Given the description of an element on the screen output the (x, y) to click on. 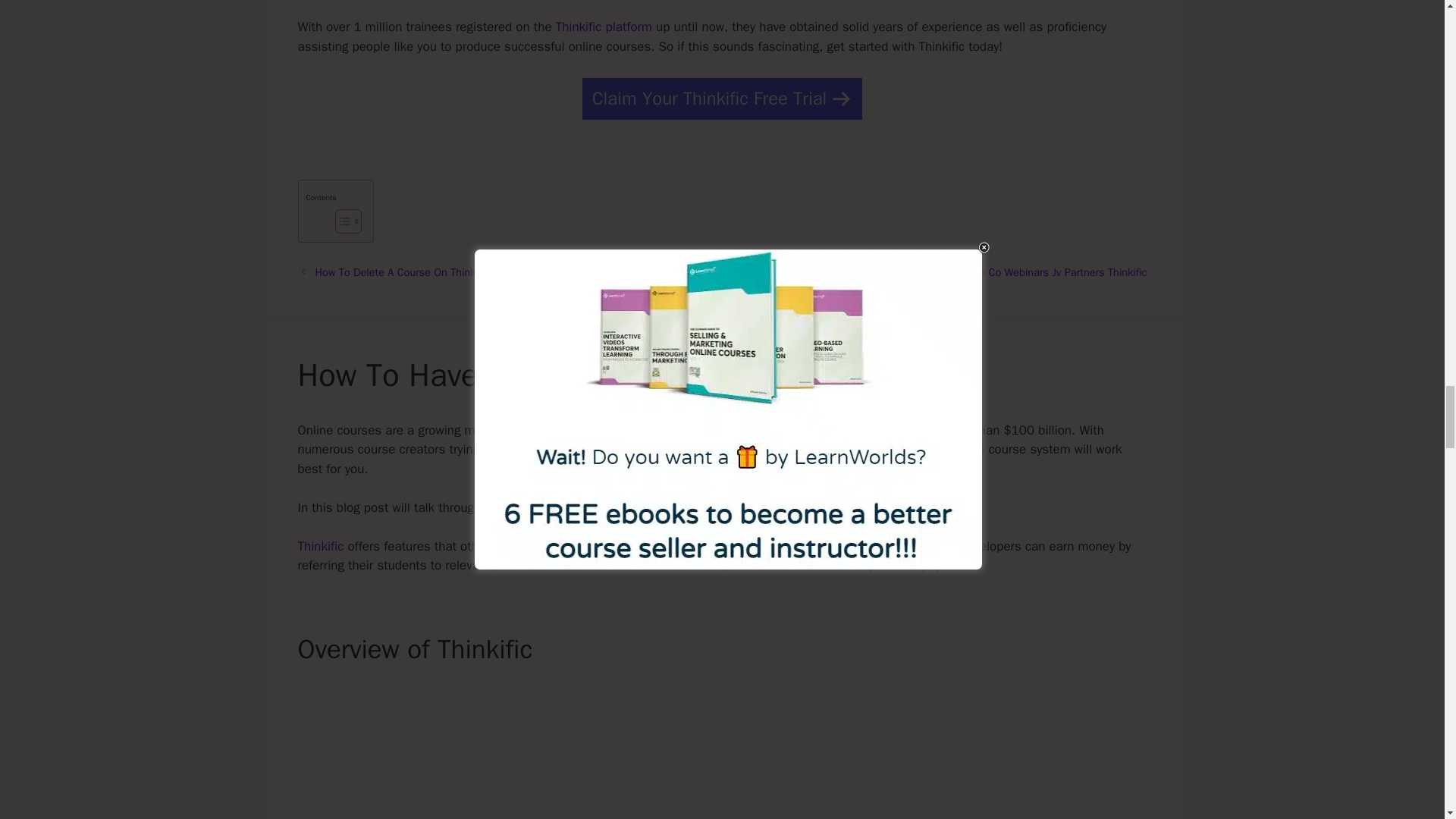
How To Delete A Course On Thinkific (402, 272)
Growth Hack Co Webinars Jv Partners Thinkific (1035, 272)
online learning industry (674, 449)
Claim Your Thinkific Free Trial (722, 98)
internet education and learning (770, 430)
Thinkific (320, 546)
Thinkific platform (604, 26)
